Given the description of an element on the screen output the (x, y) to click on. 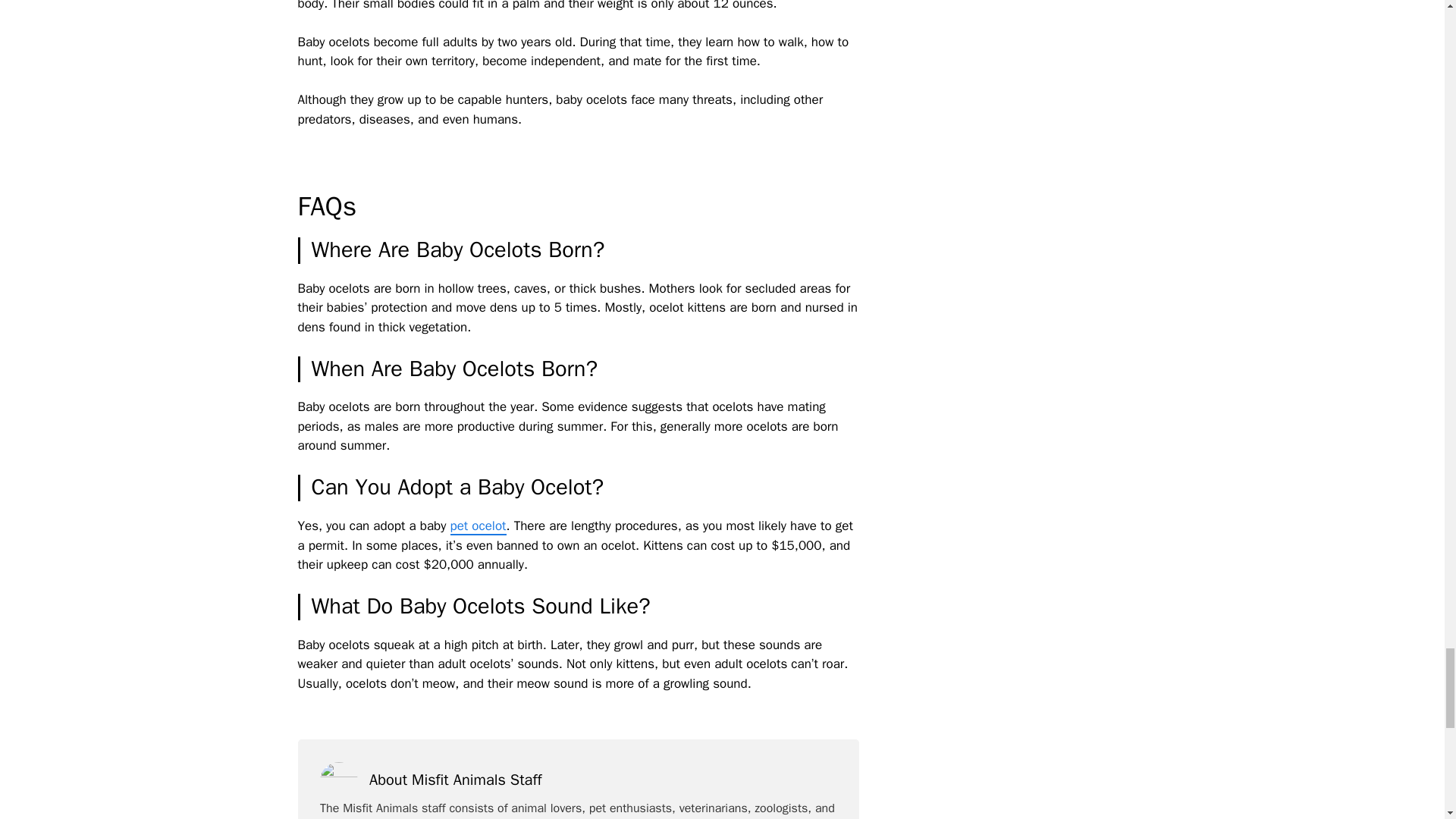
pet ocelot (477, 526)
